Given the description of an element on the screen output the (x, y) to click on. 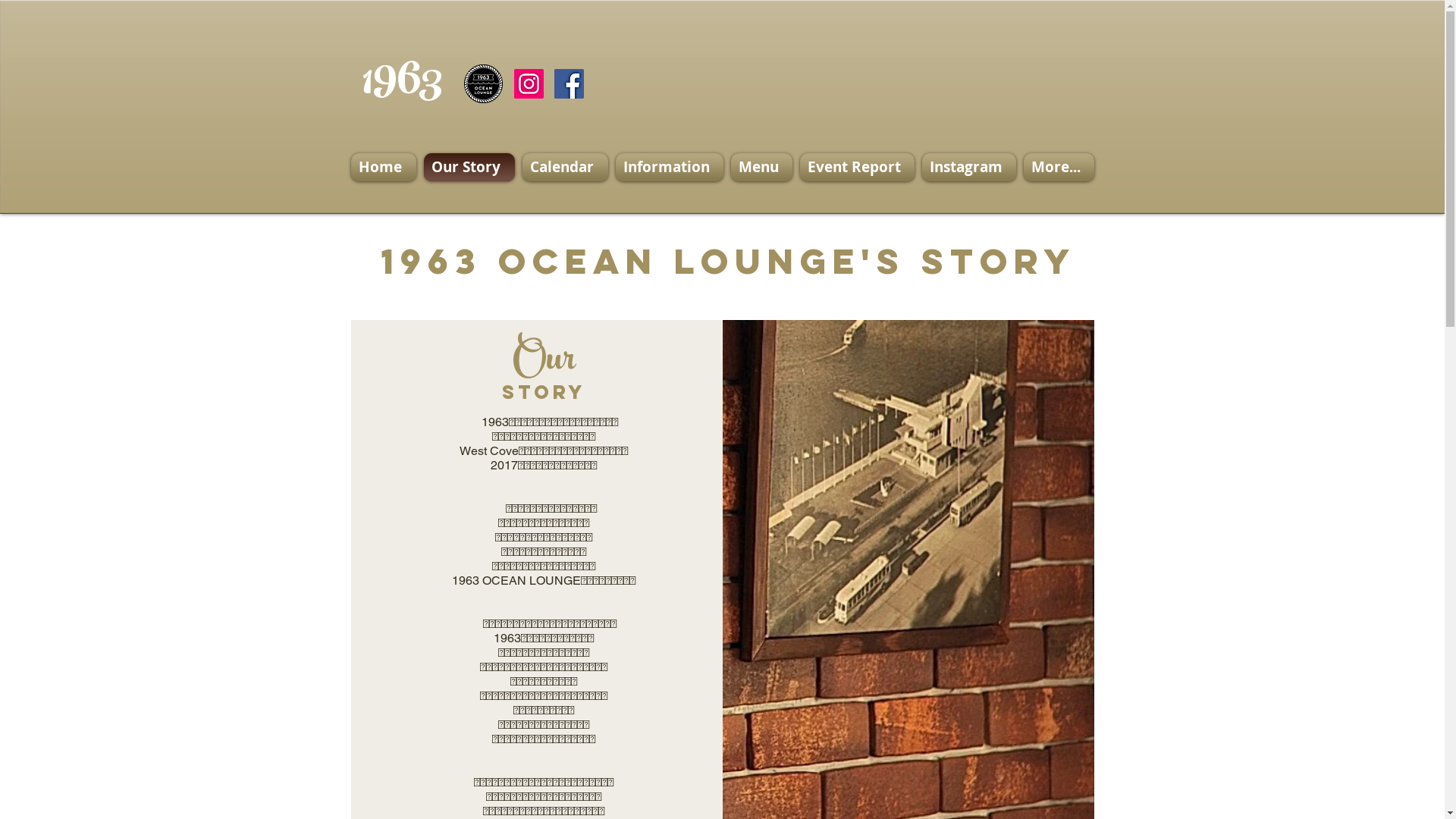
Event Report Element type: text (857, 167)
Home Element type: text (384, 167)
Our Story Element type: text (469, 167)
Menu Element type: text (760, 167)
Information Element type: text (668, 167)
Instagram Element type: text (968, 167)
Calendar Element type: text (564, 167)
